Given the description of an element on the screen output the (x, y) to click on. 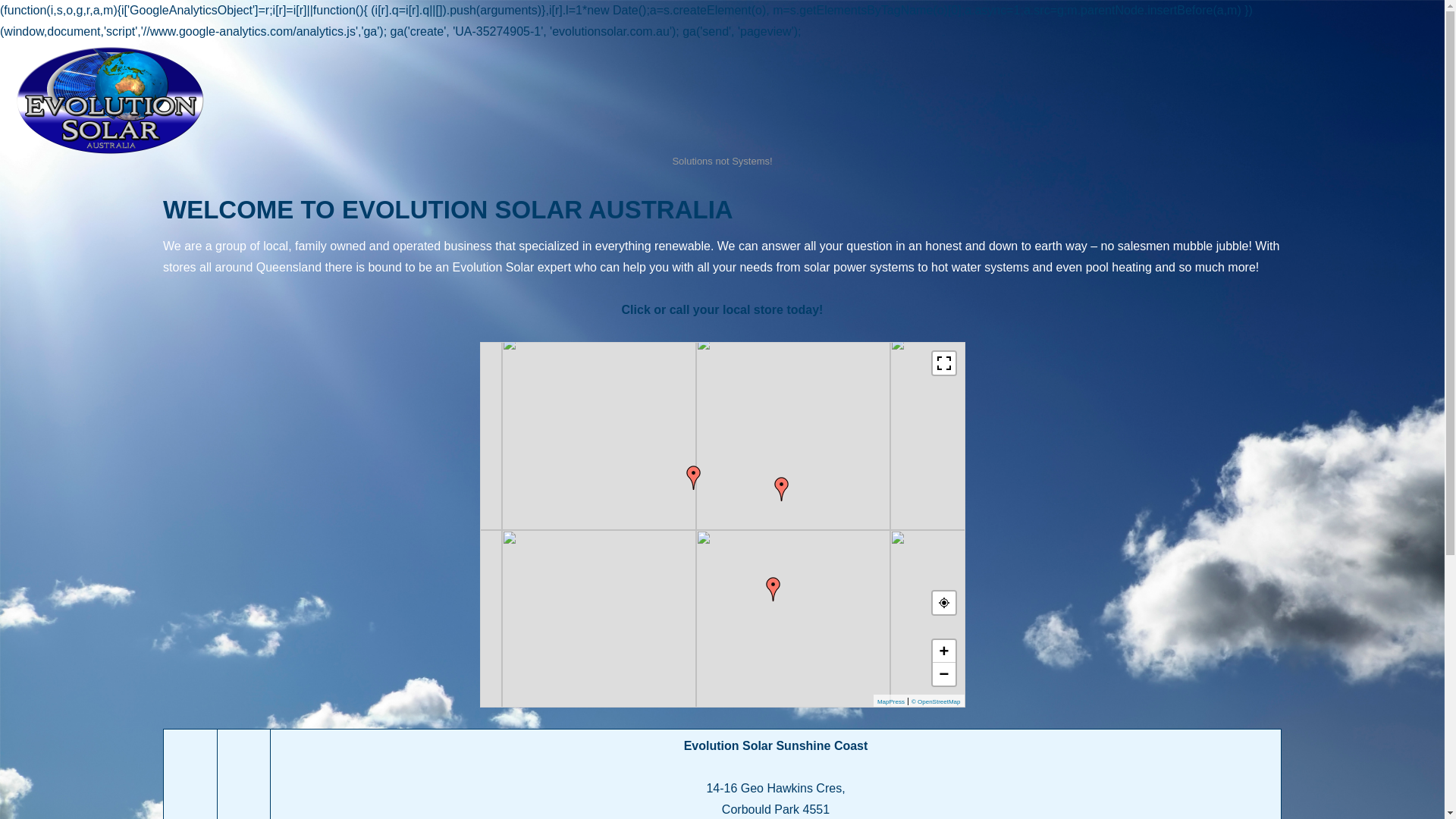
+ Element type: text (943, 651)
MapPress Element type: text (890, 701)
Toggle fullscreen view Element type: hover (944, 363)
Your Location Element type: hover (944, 602)
